Given the description of an element on the screen output the (x, y) to click on. 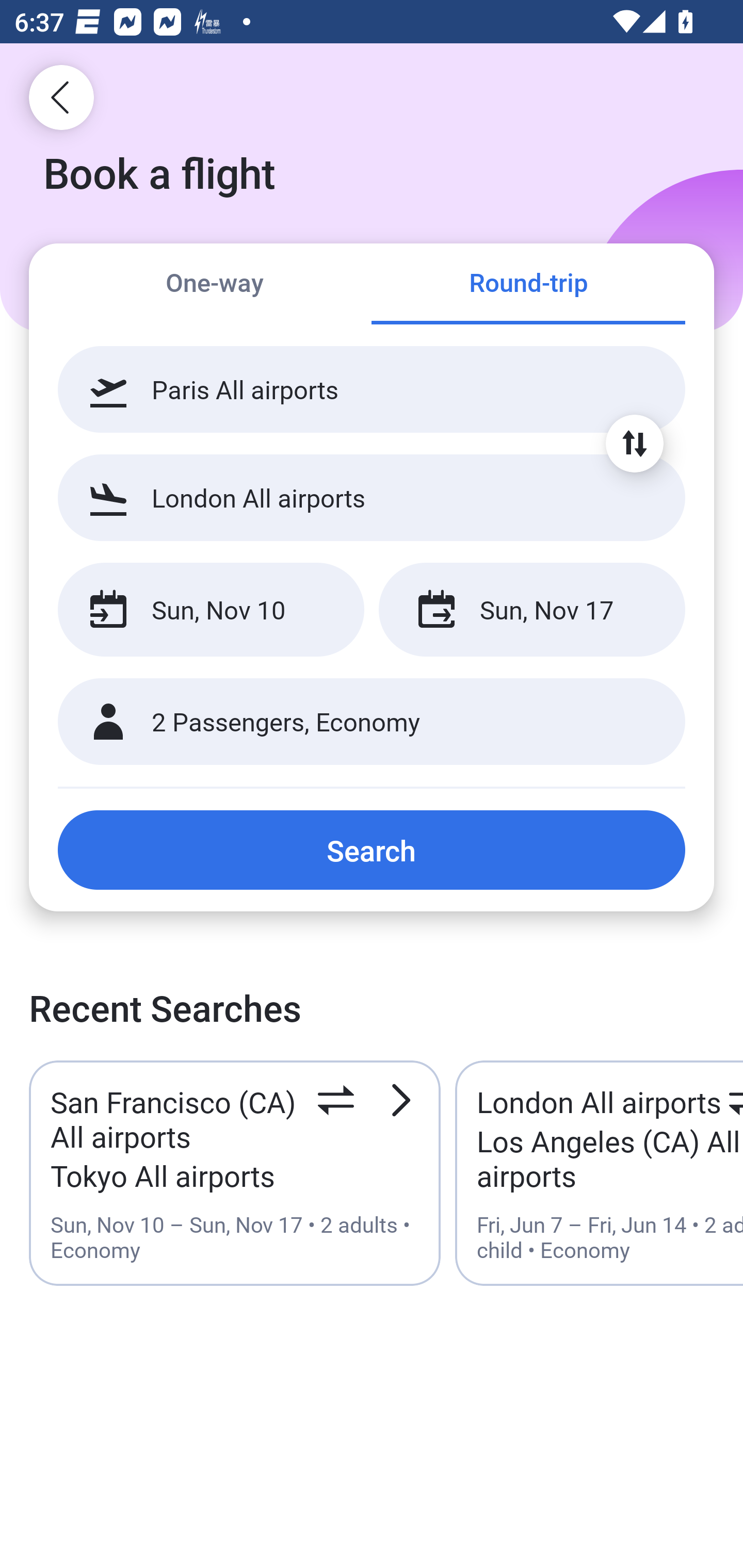
One-way (214, 284)
Paris All airports (371, 389)
London All airports (371, 497)
Sun, Nov 10 (210, 609)
Sun, Nov 17 (531, 609)
2 Passengers, Economy (371, 721)
Search (371, 849)
